Given the description of an element on the screen output the (x, y) to click on. 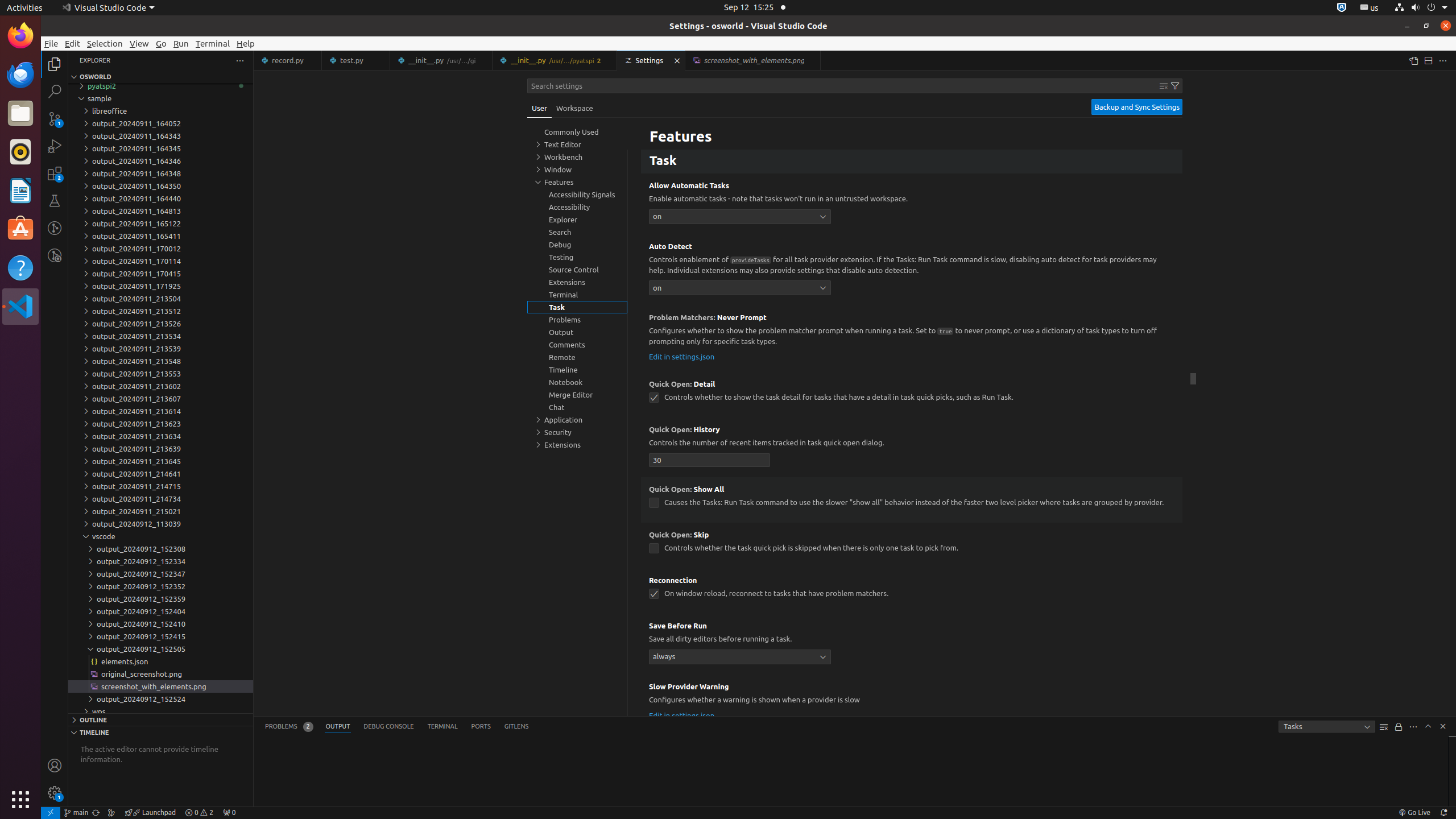
output_20240912_152334 Element type: tree-item (160, 561)
output_20240911_213548 Element type: tree-item (160, 360)
broadcast Go Live, Click to run live server Element type: push-button (1414, 812)
Settings Element type: page-tab (651, 60)
Open Settings (JSON) Element type: push-button (1413, 60)
